Given the description of an element on the screen output the (x, y) to click on. 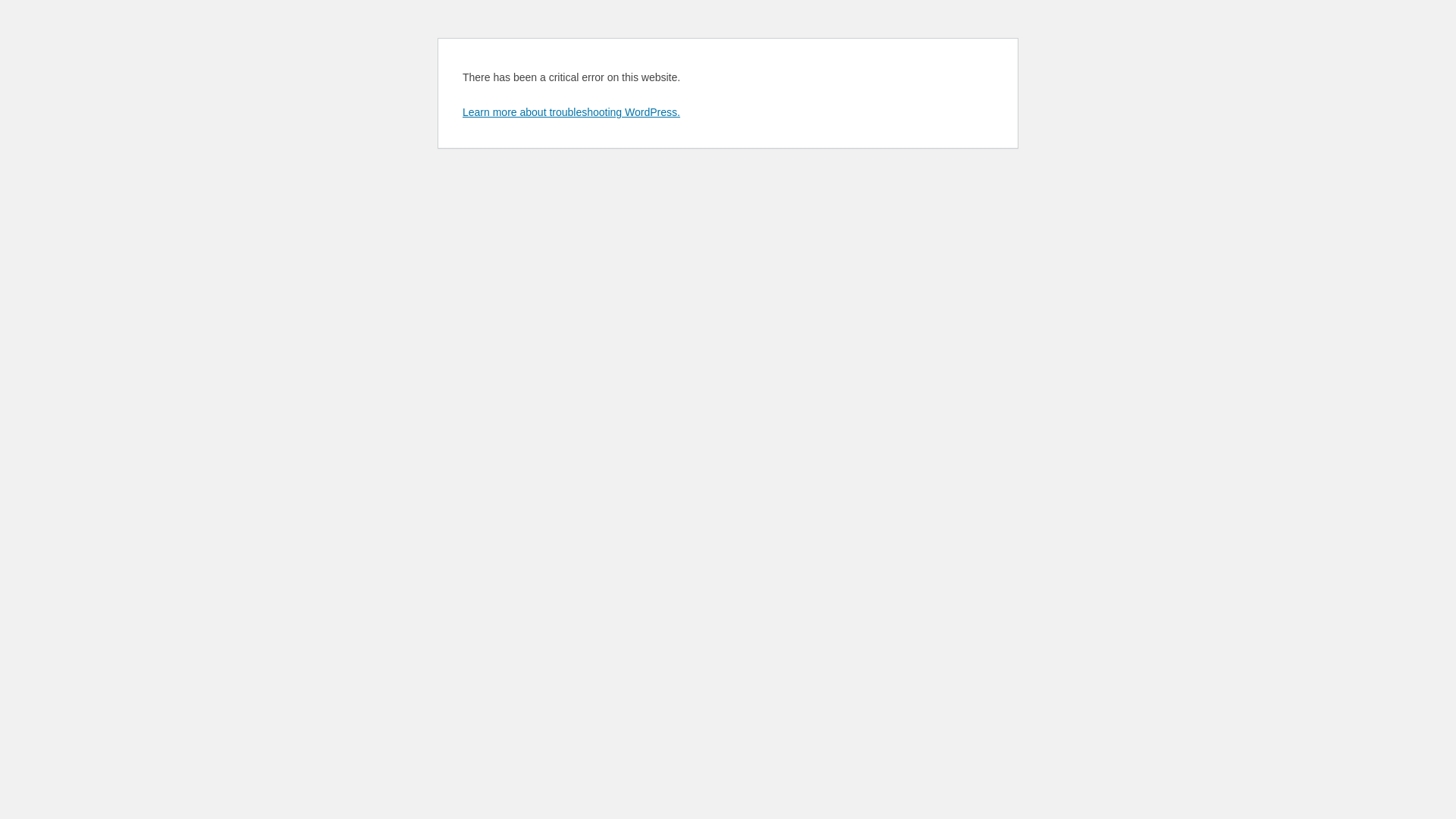
Learn more about troubleshooting WordPress. Element type: text (571, 112)
